Given the description of an element on the screen output the (x, y) to click on. 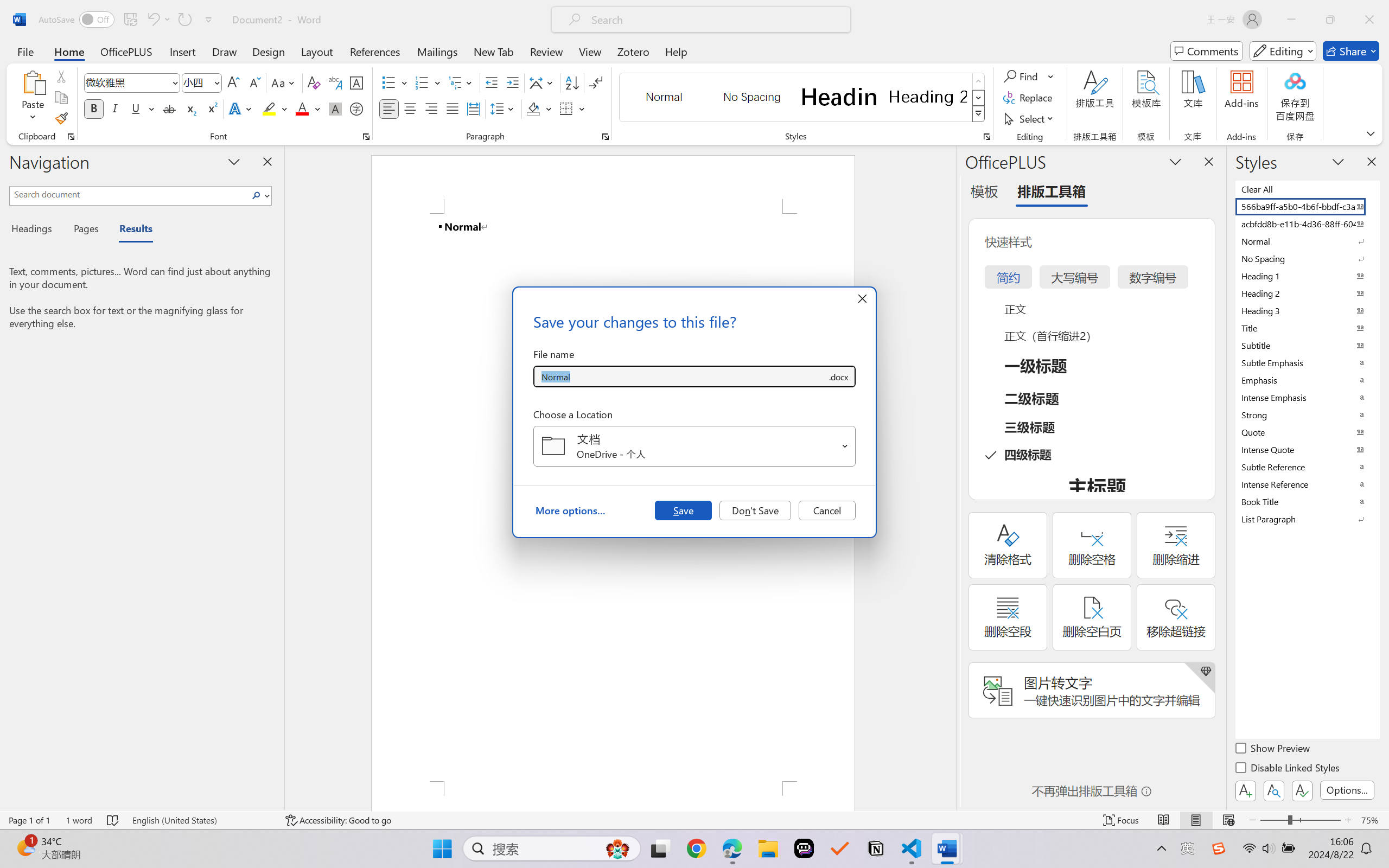
Design (268, 51)
Share (1350, 51)
Shading (539, 108)
Intense Emphasis (1306, 397)
Styles (978, 113)
Numbering (428, 82)
Zotero (632, 51)
